Given the description of an element on the screen output the (x, y) to click on. 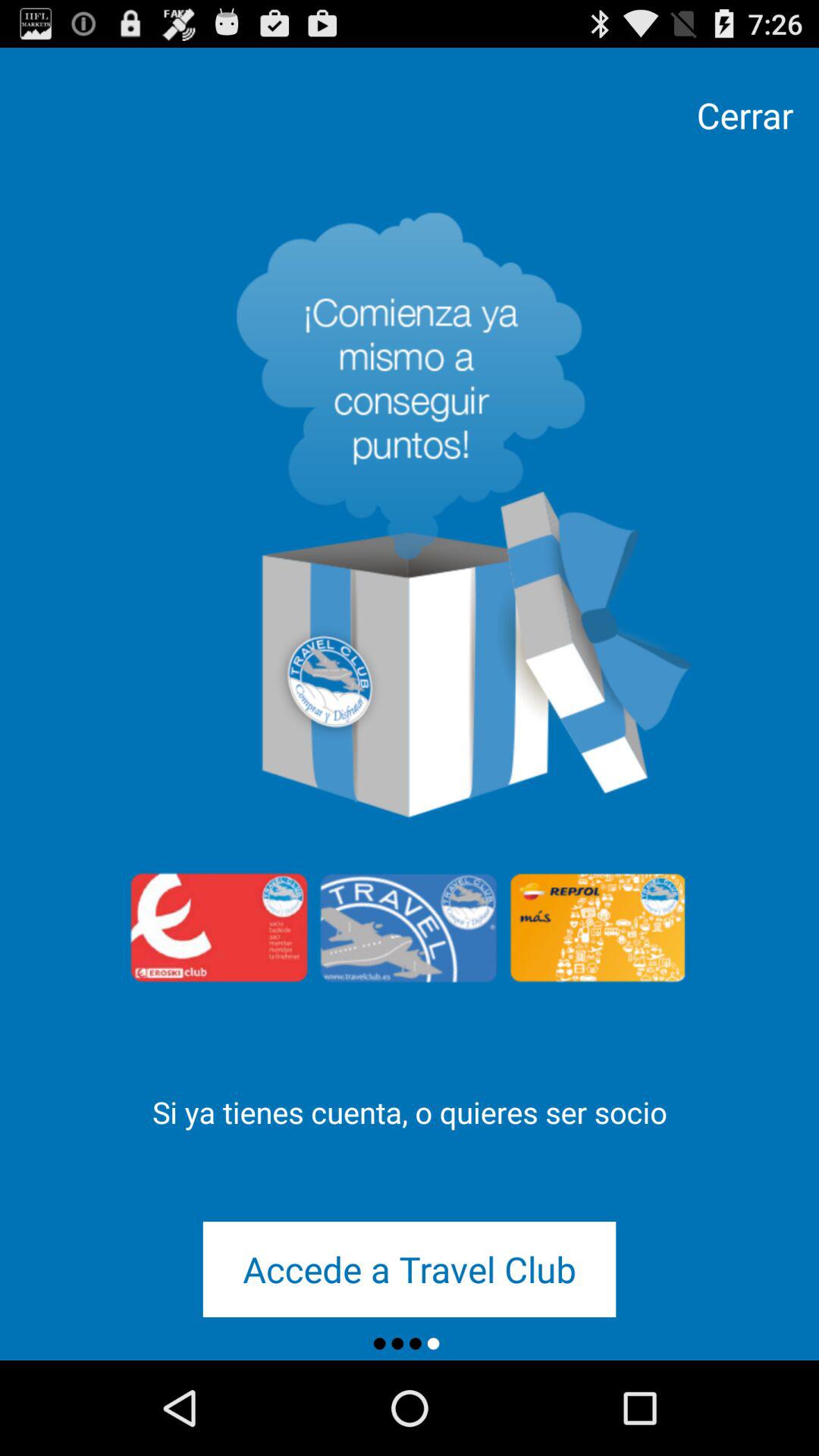
press the icon below the si ya tienes icon (409, 1269)
